Given the description of an element on the screen output the (x, y) to click on. 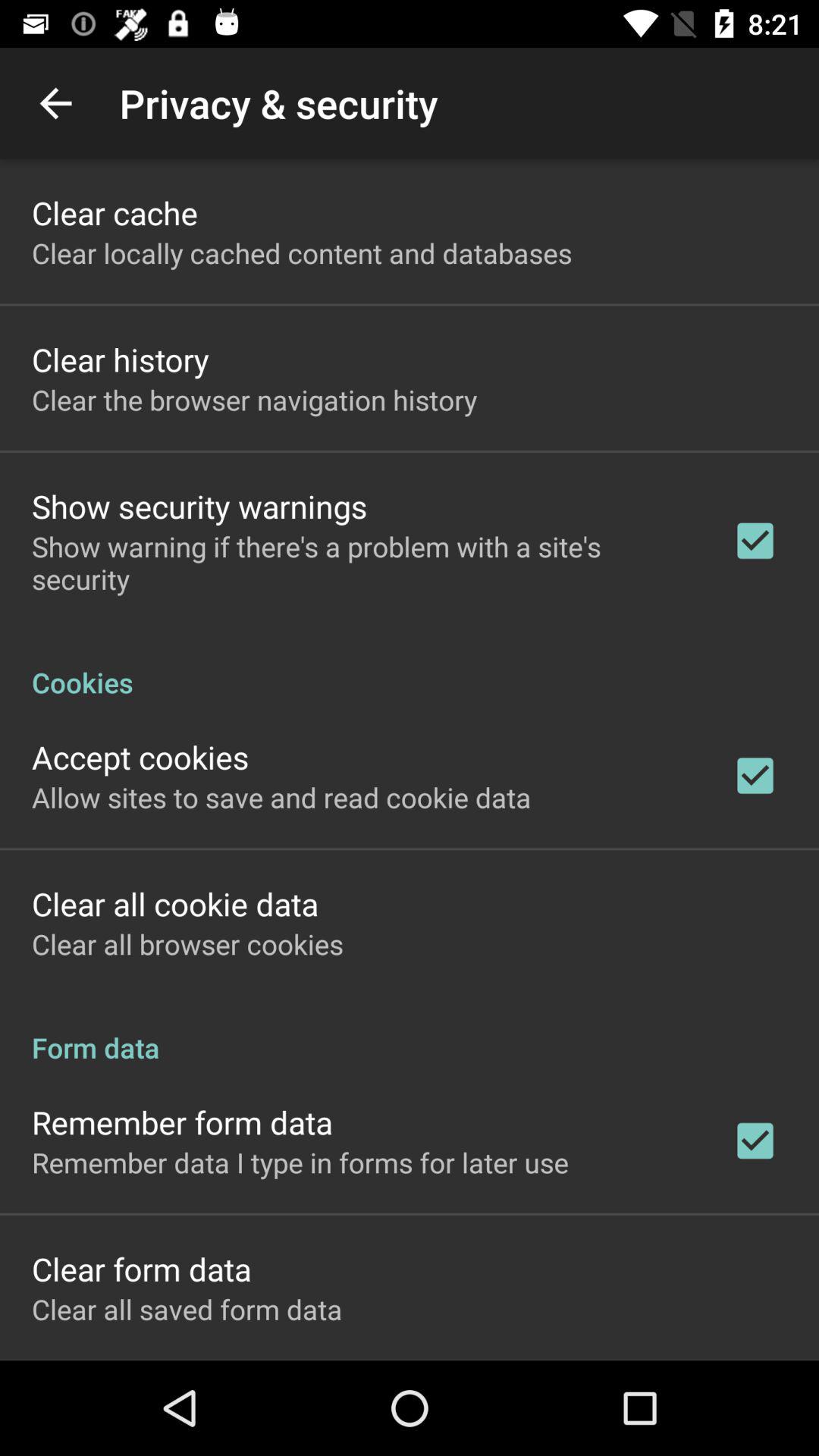
flip to accept cookies (140, 756)
